Given the description of an element on the screen output the (x, y) to click on. 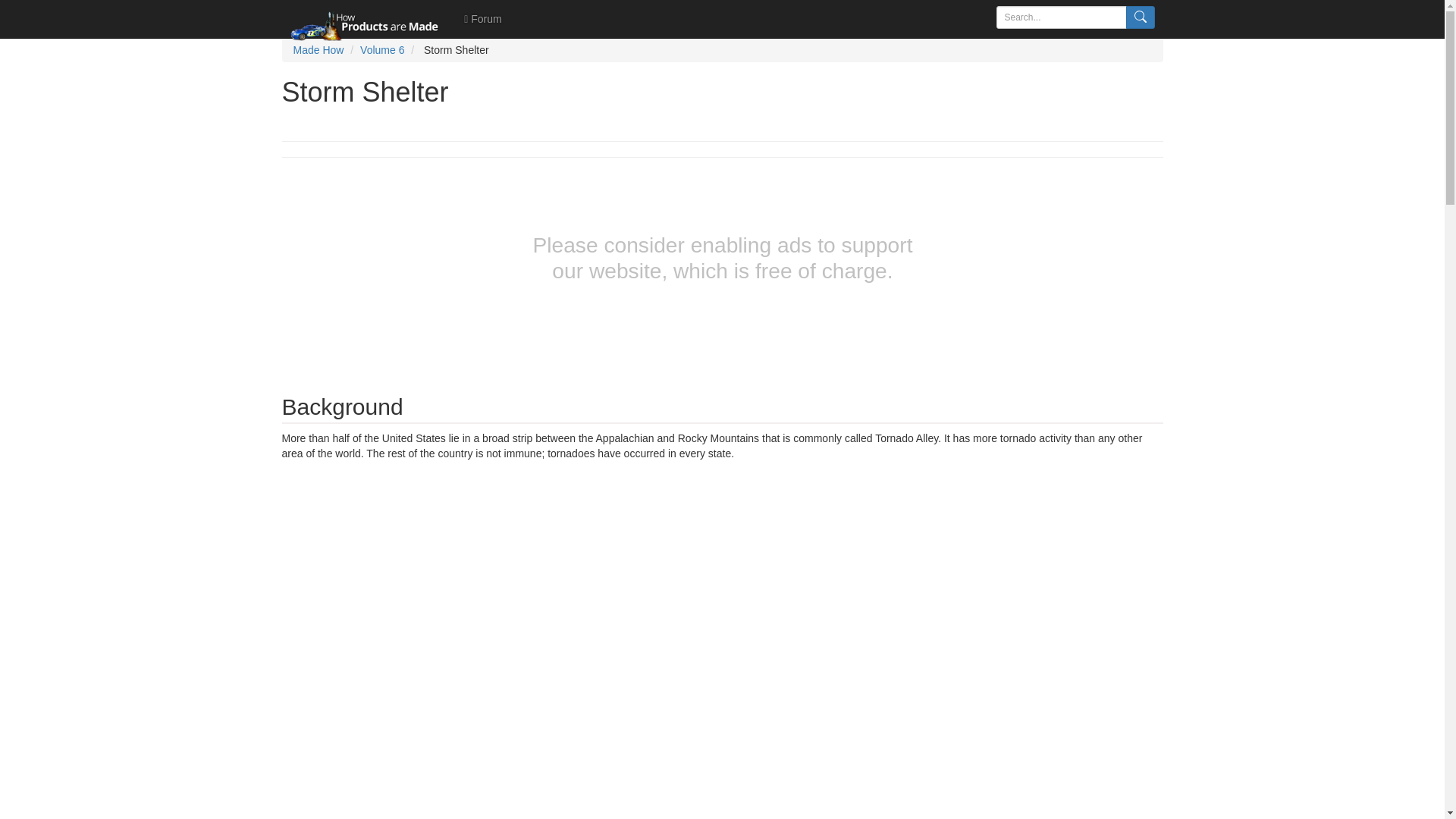
Forum (482, 18)
Visit Science and Technology Forum (482, 18)
Made How (317, 50)
Volume 6 (381, 50)
